Given the description of an element on the screen output the (x, y) to click on. 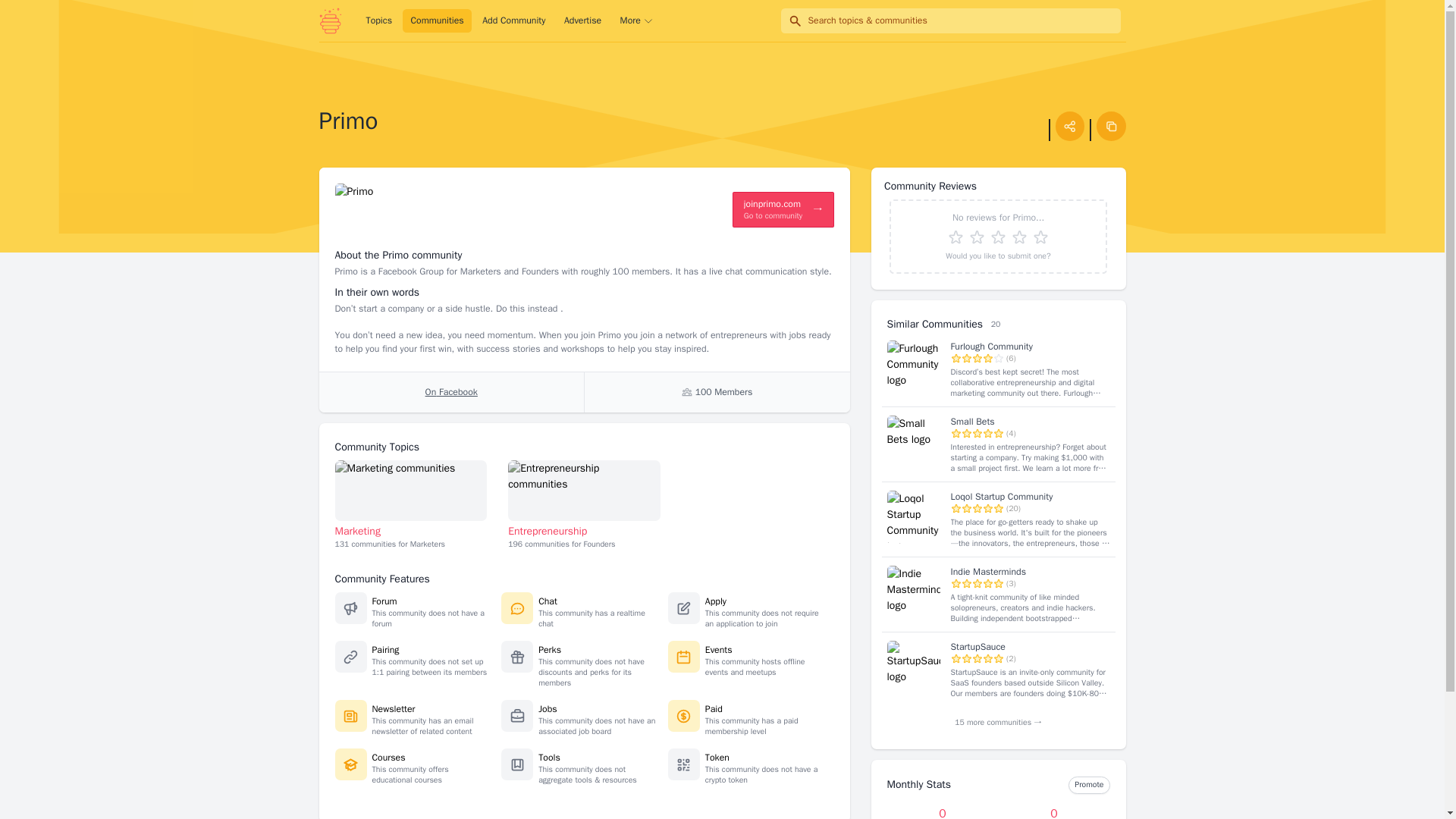
Chat (547, 601)
View details for Marketing (410, 489)
More (636, 21)
Forum (383, 601)
Events (718, 649)
Token (997, 236)
Jobs (716, 757)
On Facebook (547, 708)
Communities (450, 392)
Perks (437, 21)
View details for Entrepreneurship (549, 649)
Advertise (584, 489)
Paid (582, 21)
Topics (713, 708)
